Given the description of an element on the screen output the (x, y) to click on. 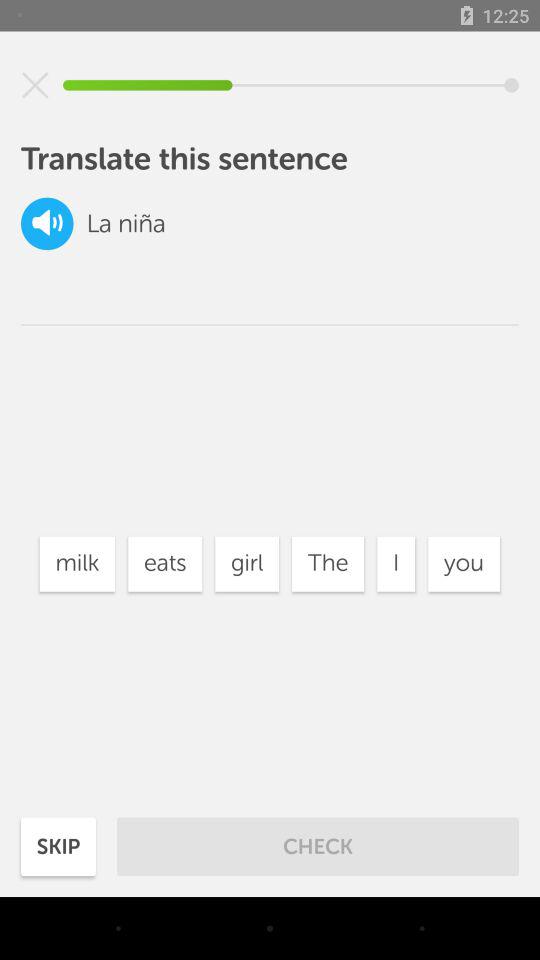
press icon to the left of the the (246, 563)
